Given the description of an element on the screen output the (x, y) to click on. 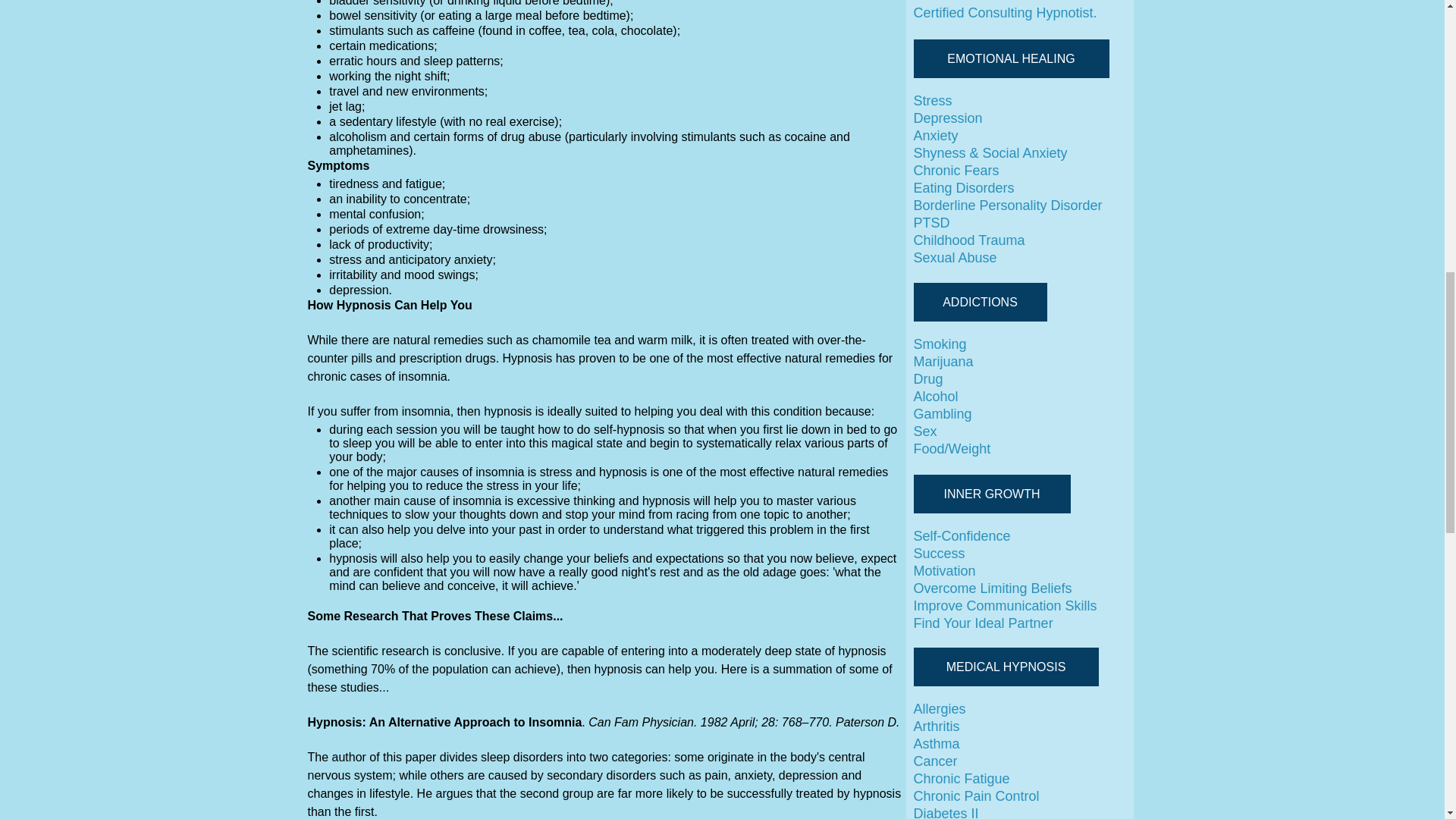
ADDICTIONS (979, 301)
INNER GROWTH (991, 494)
MEDICAL HYPNOSIS (1004, 666)
EMOTIONAL HEALING (1010, 58)
